Given the description of an element on the screen output the (x, y) to click on. 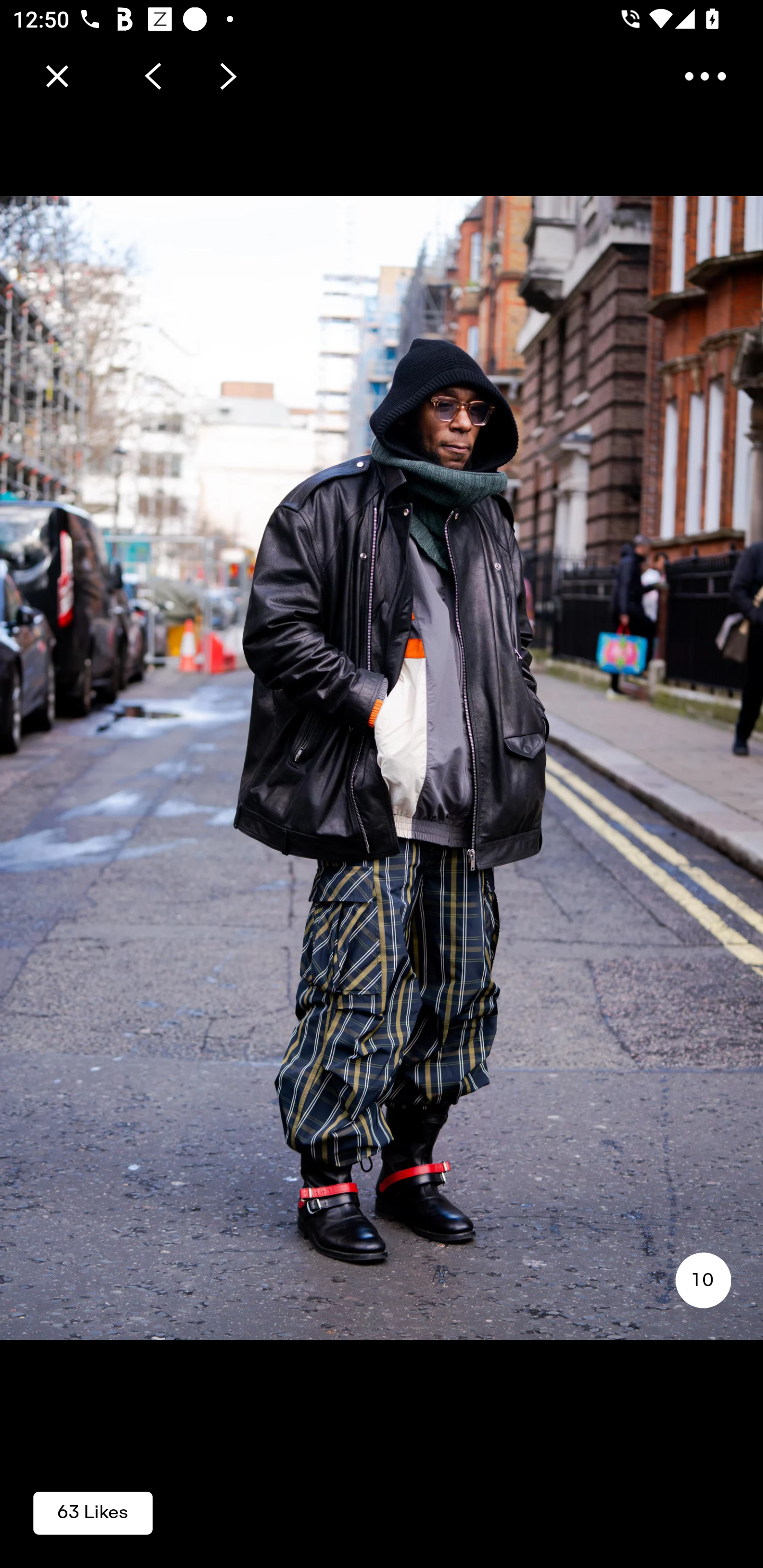
10 (702, 1279)
63 Likes (93, 1512)
